Given the description of an element on the screen output the (x, y) to click on. 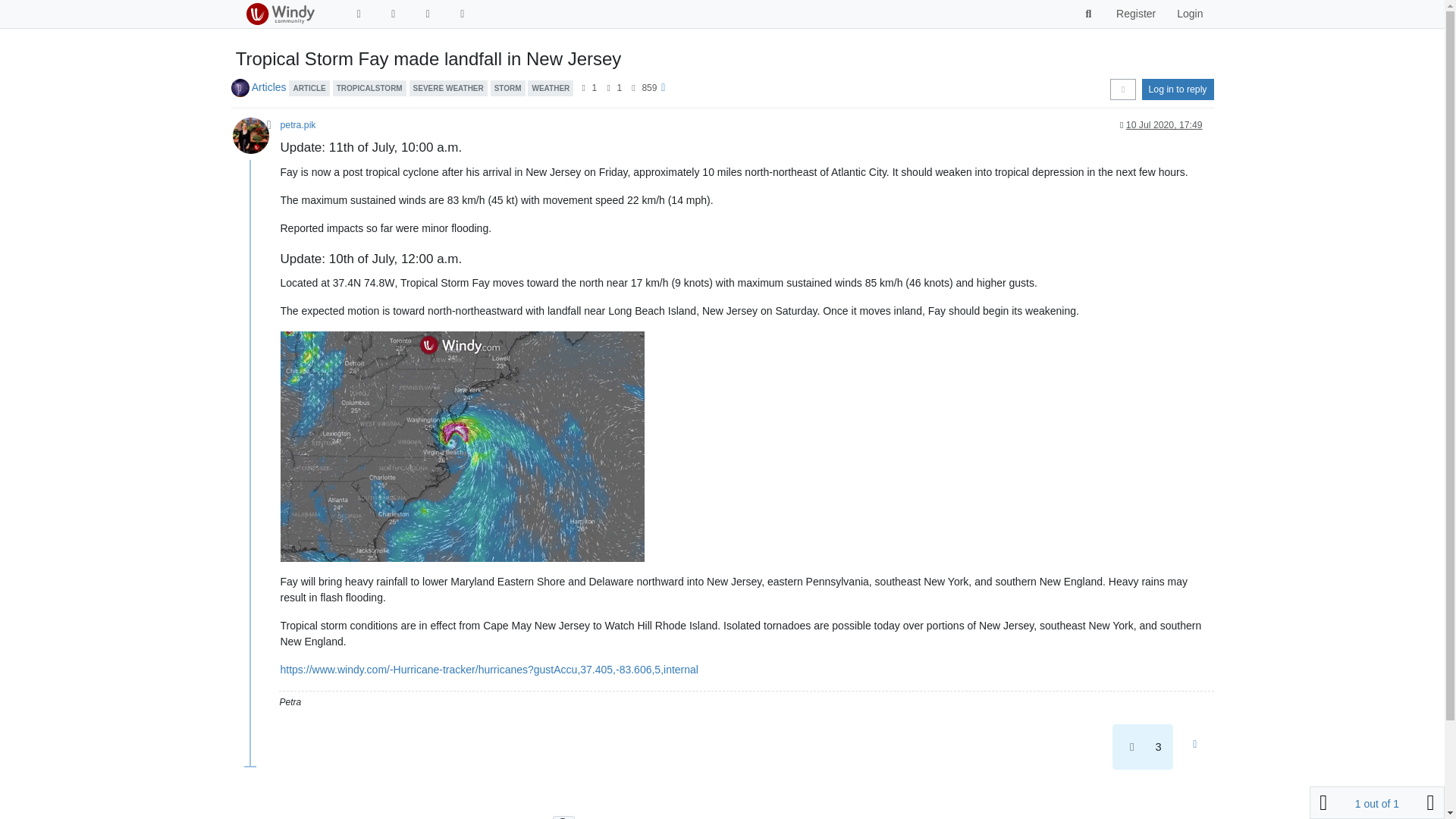
Unread (357, 13)
Register (1135, 13)
TROPICALSTORM (369, 87)
Posts (608, 87)
Windy Community (279, 13)
Search (1088, 14)
Posters (583, 87)
Go to windy.com (462, 13)
Categories (392, 13)
ARTICLE (308, 87)
